Given the description of an element on the screen output the (x, y) to click on. 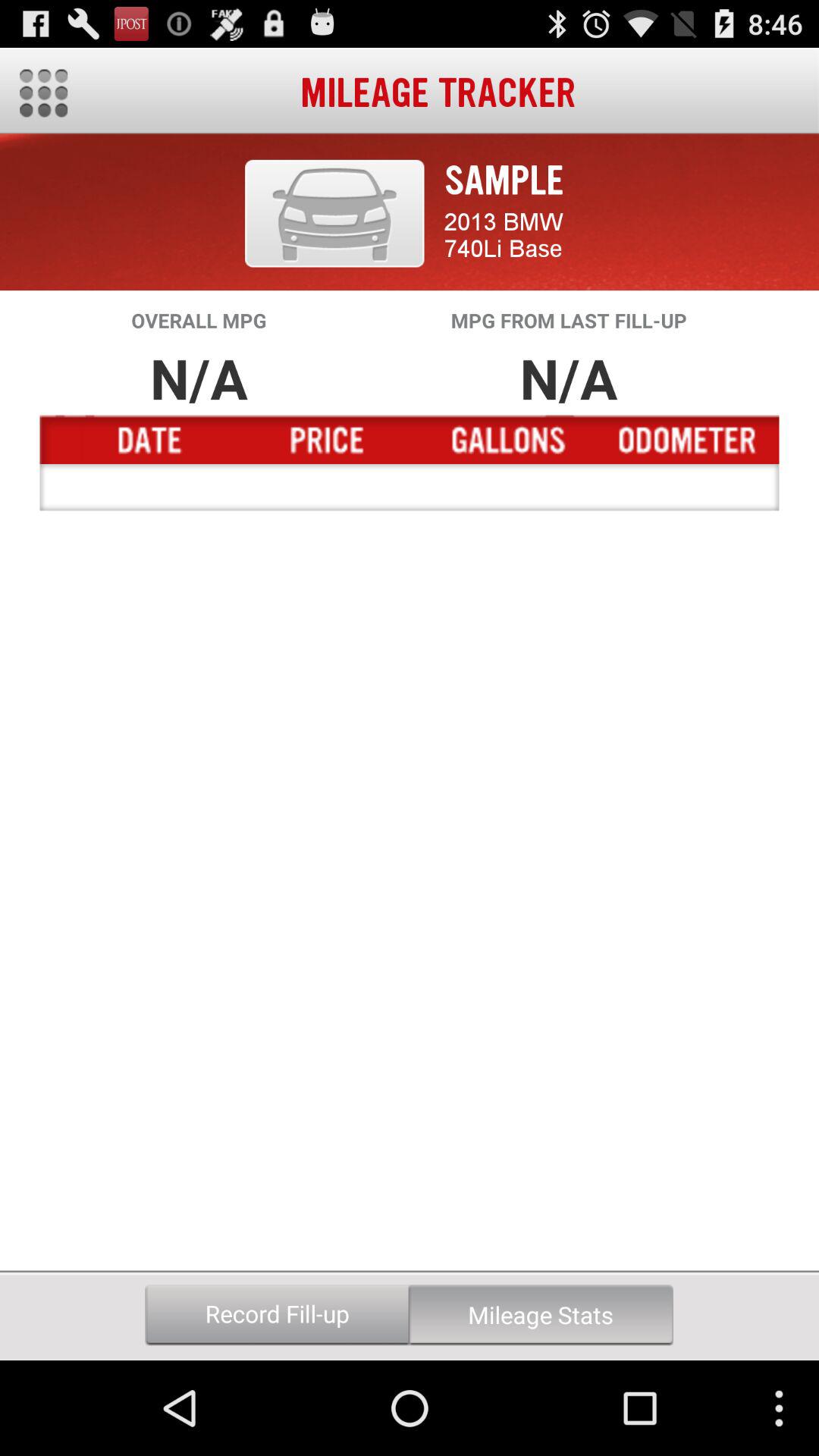
scroll until mileage stats item (540, 1314)
